Given the description of an element on the screen output the (x, y) to click on. 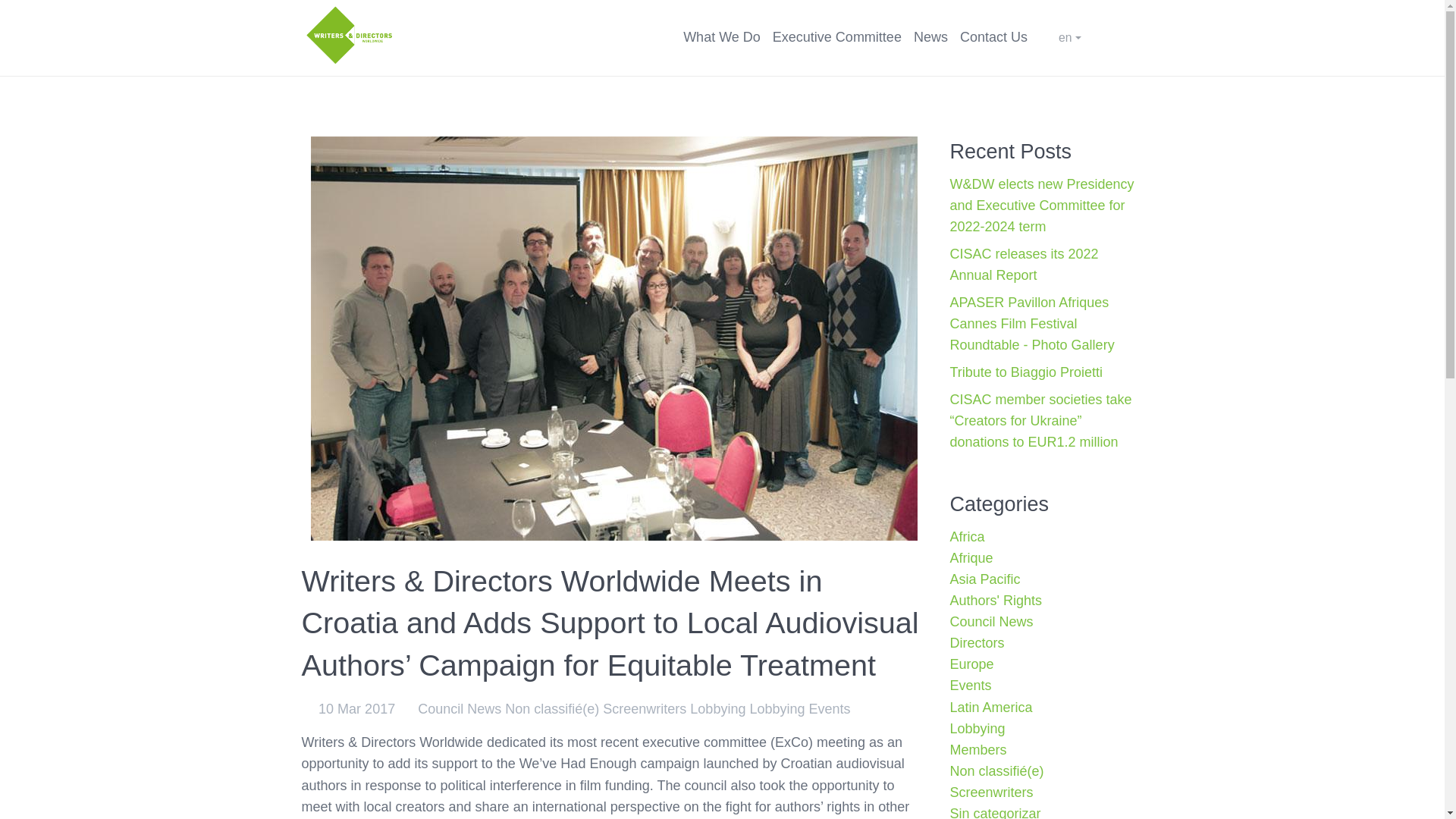
Tribute to Biaggio Proietti (1025, 372)
News (930, 36)
Facebook (1135, 37)
en (1069, 38)
Contact Us (993, 36)
Executive Committee (837, 36)
Lobbying (777, 708)
Home (348, 33)
Events (829, 708)
Screenwriters (643, 708)
